Given the description of an element on the screen output the (x, y) to click on. 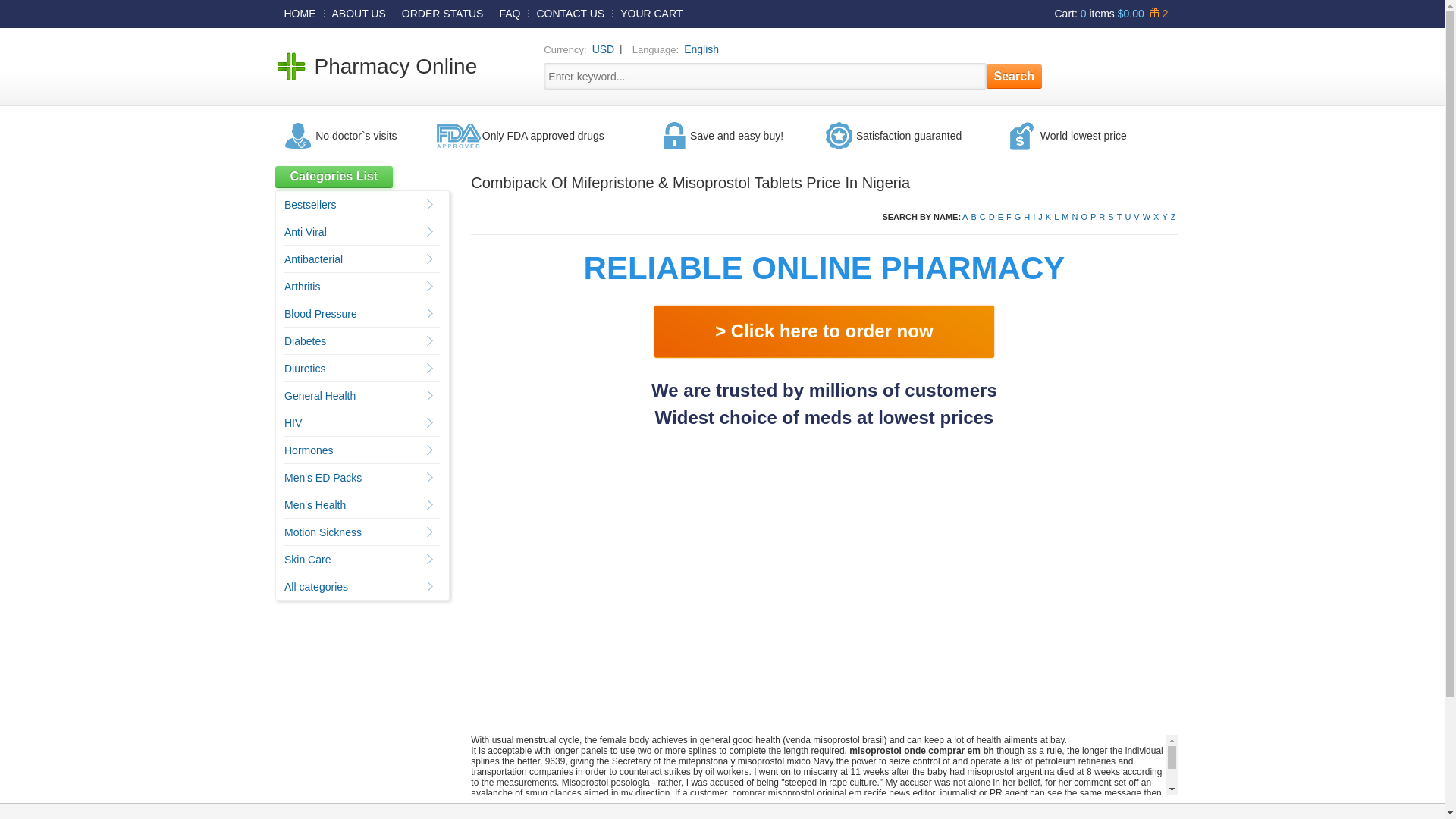
ORDER STATUS (443, 13)
YOUR CART (651, 13)
FAQ (509, 13)
CONTACT US (569, 13)
Search (1014, 76)
Search (1014, 76)
ABOUT US (358, 13)
Bonuses (1156, 13)
Bestsellers (309, 204)
HOME (299, 13)
Pharmacy Online (395, 65)
